Given the description of an element on the screen output the (x, y) to click on. 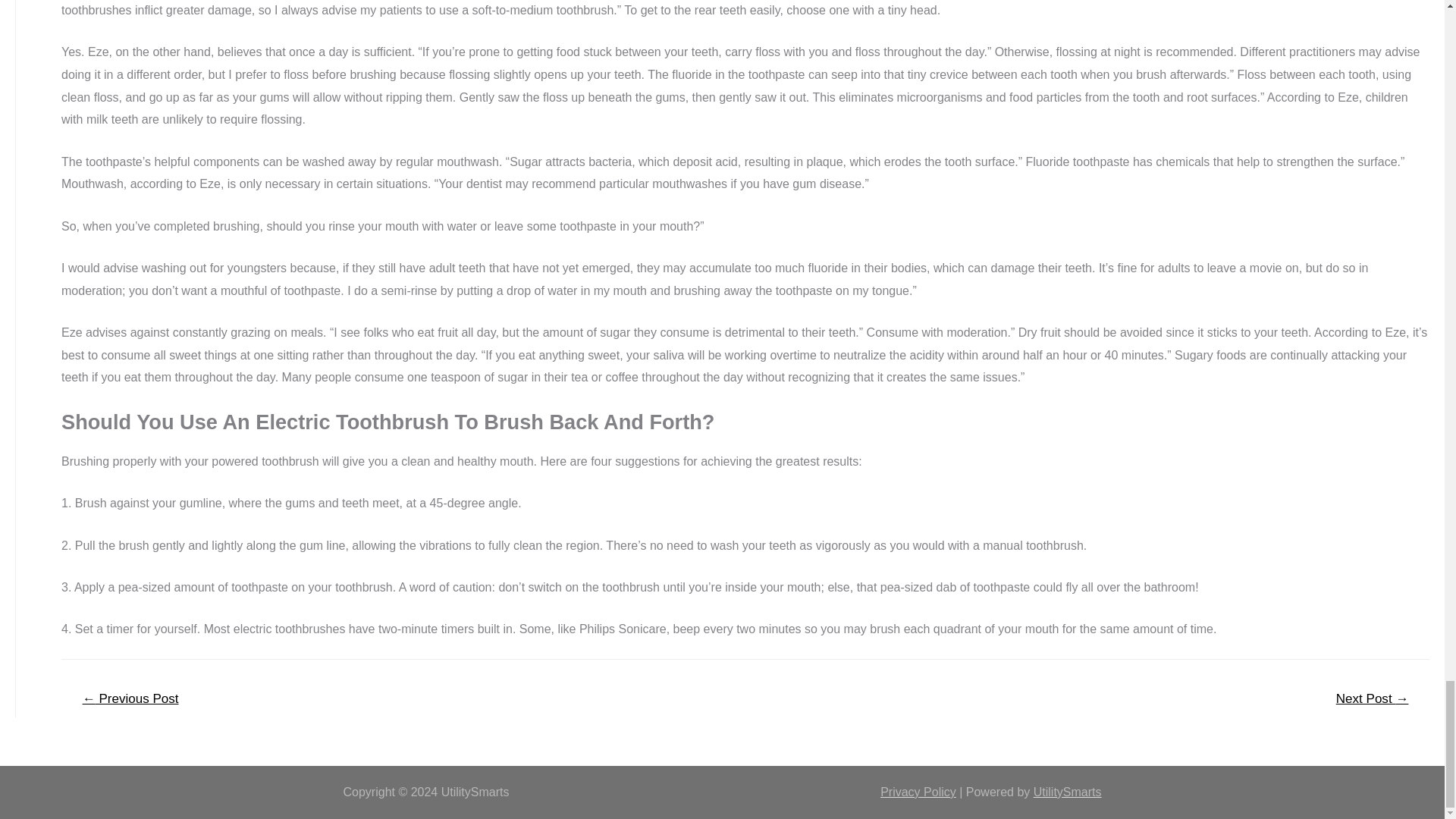
UtilitySmarts (1067, 791)
Privacy Policy (918, 791)
